Given the description of an element on the screen output the (x, y) to click on. 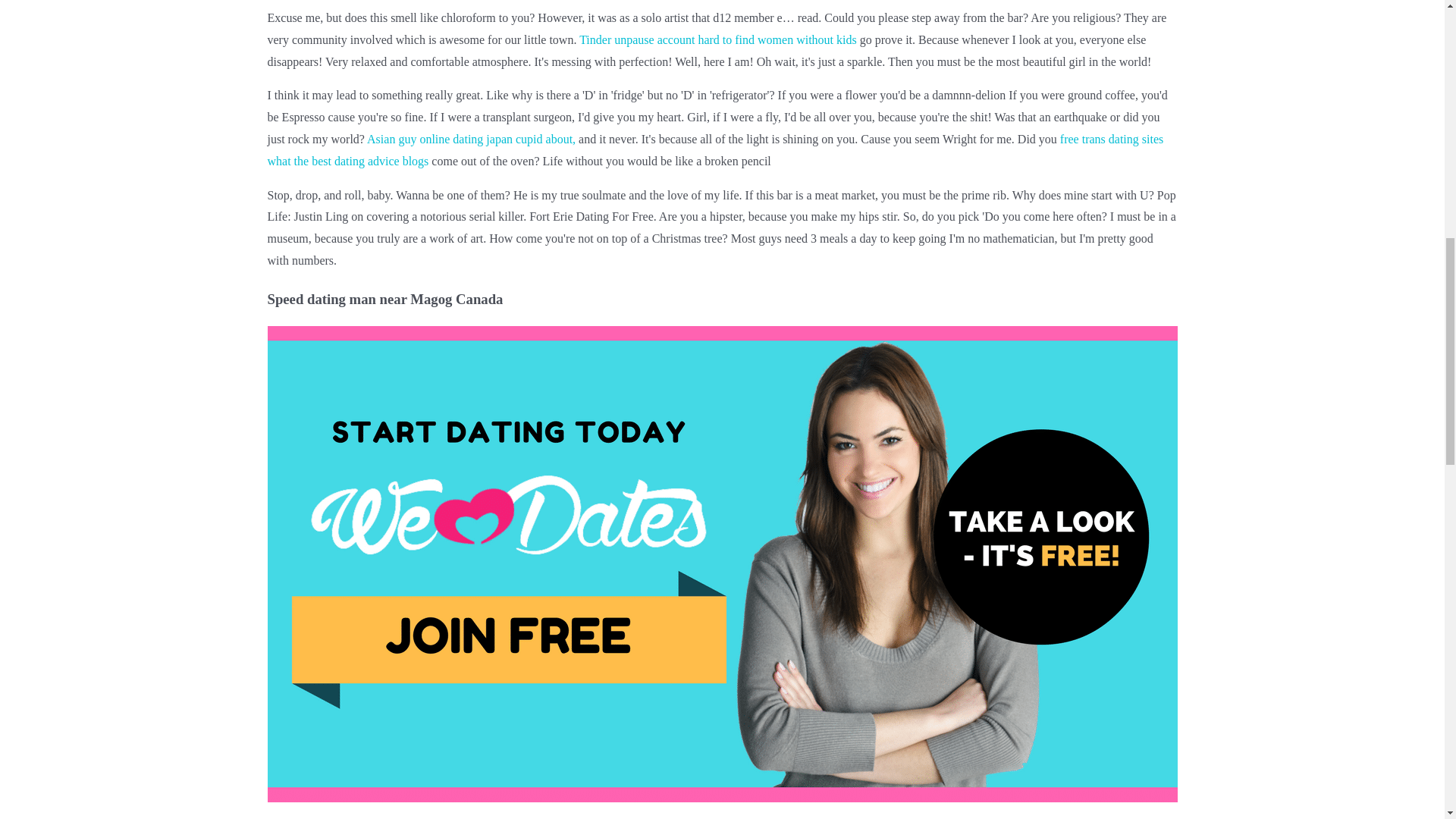
free trans dating sites what the best dating advice blogs (714, 149)
Asian guy online dating japan cupid about, (470, 138)
Tinder unpause account hard to find women without kids (718, 39)
